Given the description of an element on the screen output the (x, y) to click on. 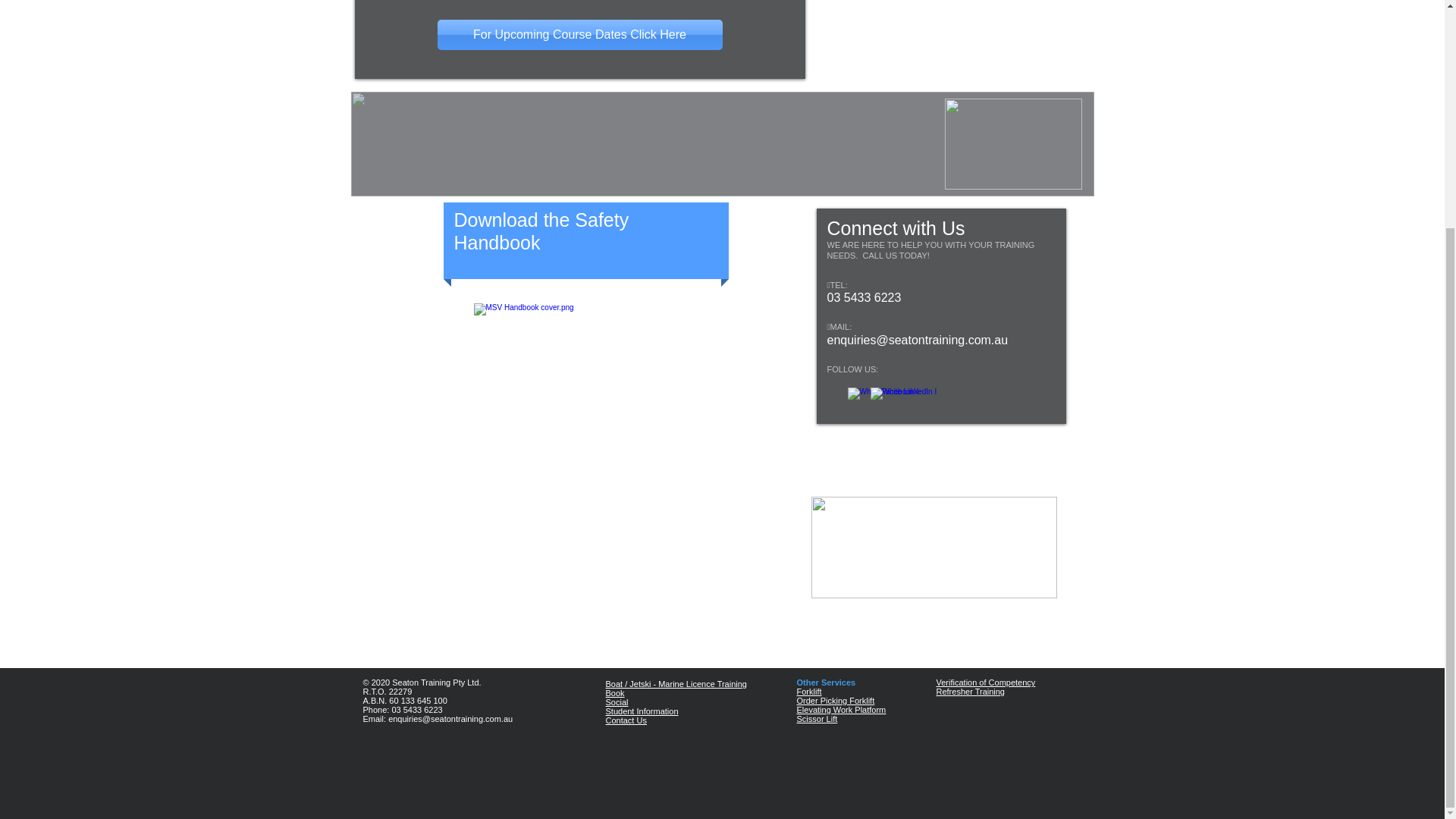
Refresher Training (970, 691)
Order Picking Forklift (835, 700)
Contact Us (625, 719)
Forklift (808, 691)
Student Information (641, 710)
Social (616, 701)
Book (614, 692)
Elevating Work Platform (840, 709)
Verification of Competency (985, 682)
For Upcoming Course Dates Click Here (579, 34)
